Given the description of an element on the screen output the (x, y) to click on. 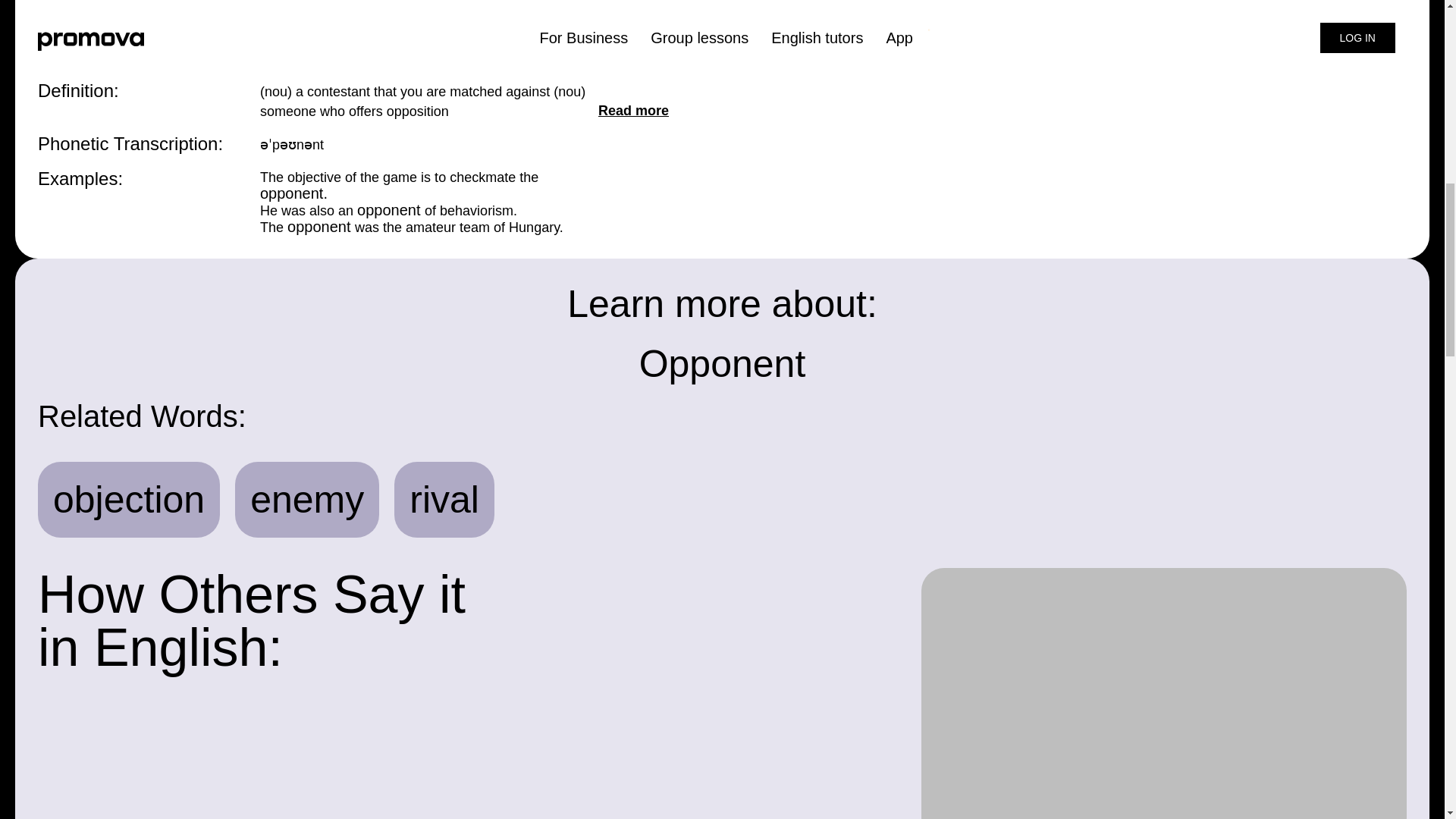
Read more (633, 110)
rival (444, 499)
enemy (307, 499)
objection (128, 499)
YouTube video player (1163, 693)
